Given the description of an element on the screen output the (x, y) to click on. 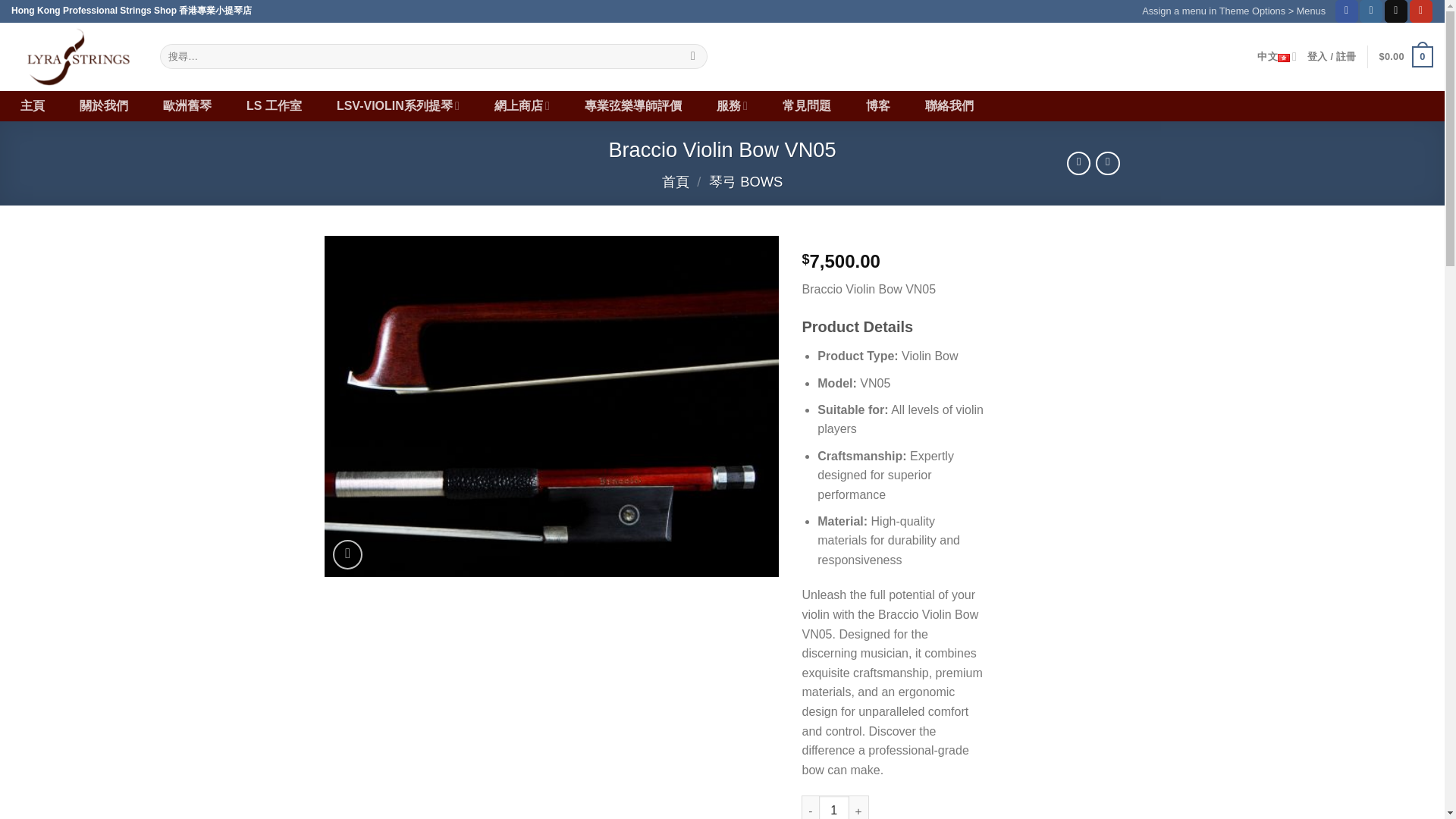
Follow on Instagram (1370, 11)
Zoom (347, 554)
Lyra Strings - Hong Kong Professional Strings Shop (73, 56)
Follow on Facebook (1346, 11)
1 (833, 807)
Follow on YouTube (1420, 11)
Send us an email (1395, 11)
Qty (833, 807)
